Given the description of an element on the screen output the (x, y) to click on. 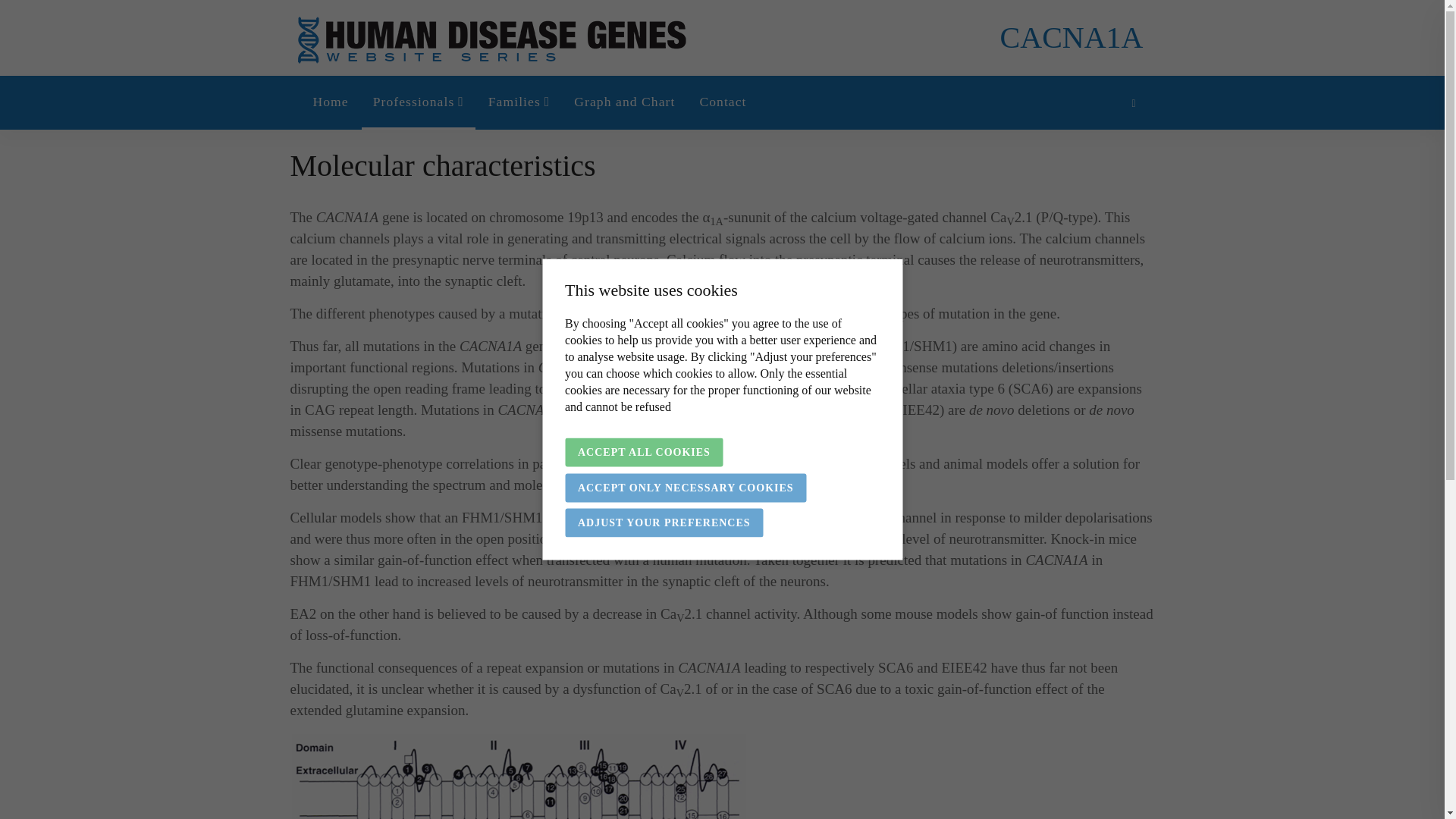
ACCEPT ALL COOKIES (643, 452)
Contact (722, 104)
Home (330, 104)
Professionals (418, 104)
ACCEPT ONLY NECESSARY COOKIES (685, 487)
Families (519, 104)
ADJUST YOUR PREFERENCES (663, 522)
Graph and Chart (623, 104)
